Given the description of an element on the screen output the (x, y) to click on. 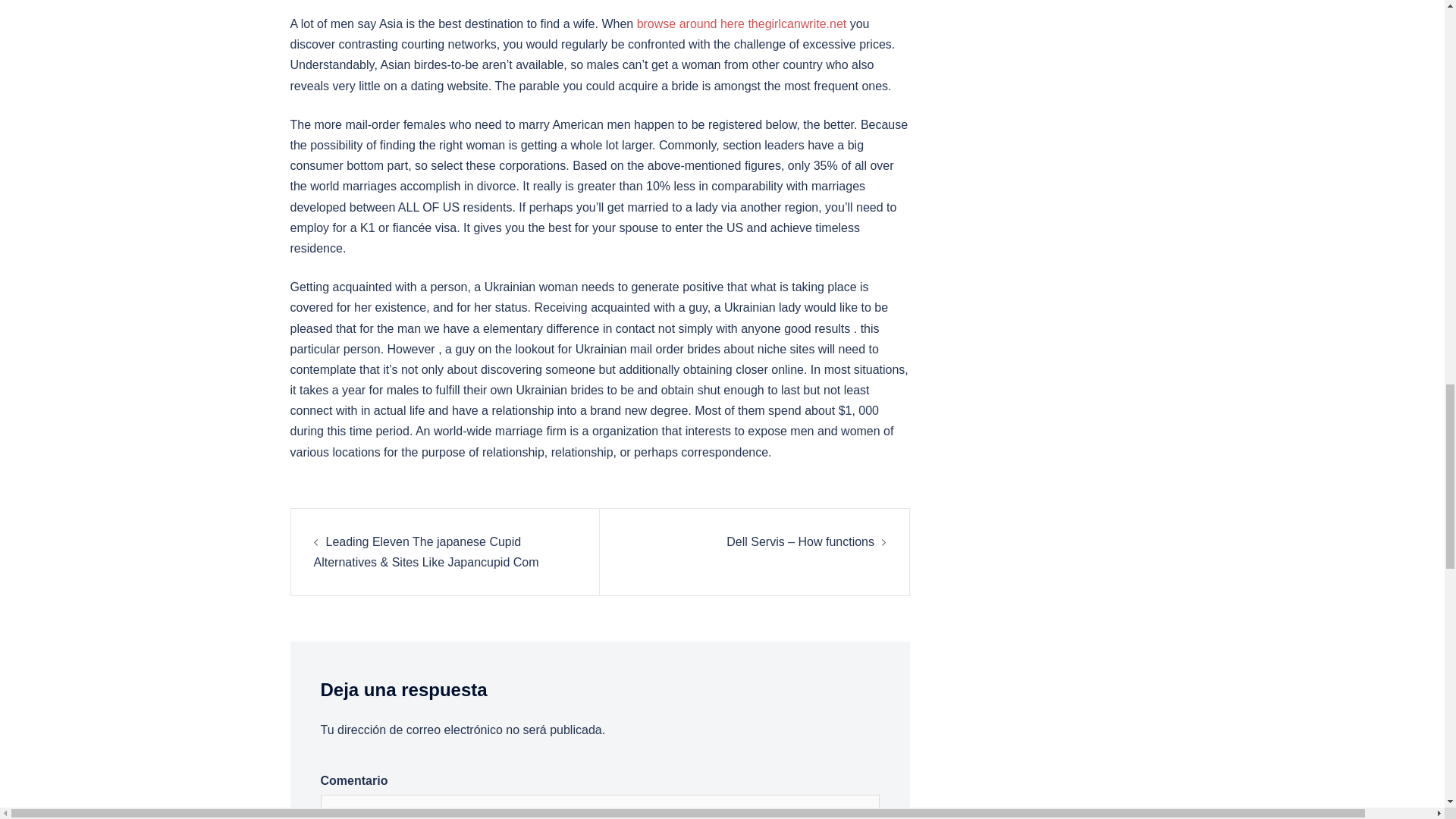
browse around here thegirlcanwrite.net (742, 23)
